Given the description of an element on the screen output the (x, y) to click on. 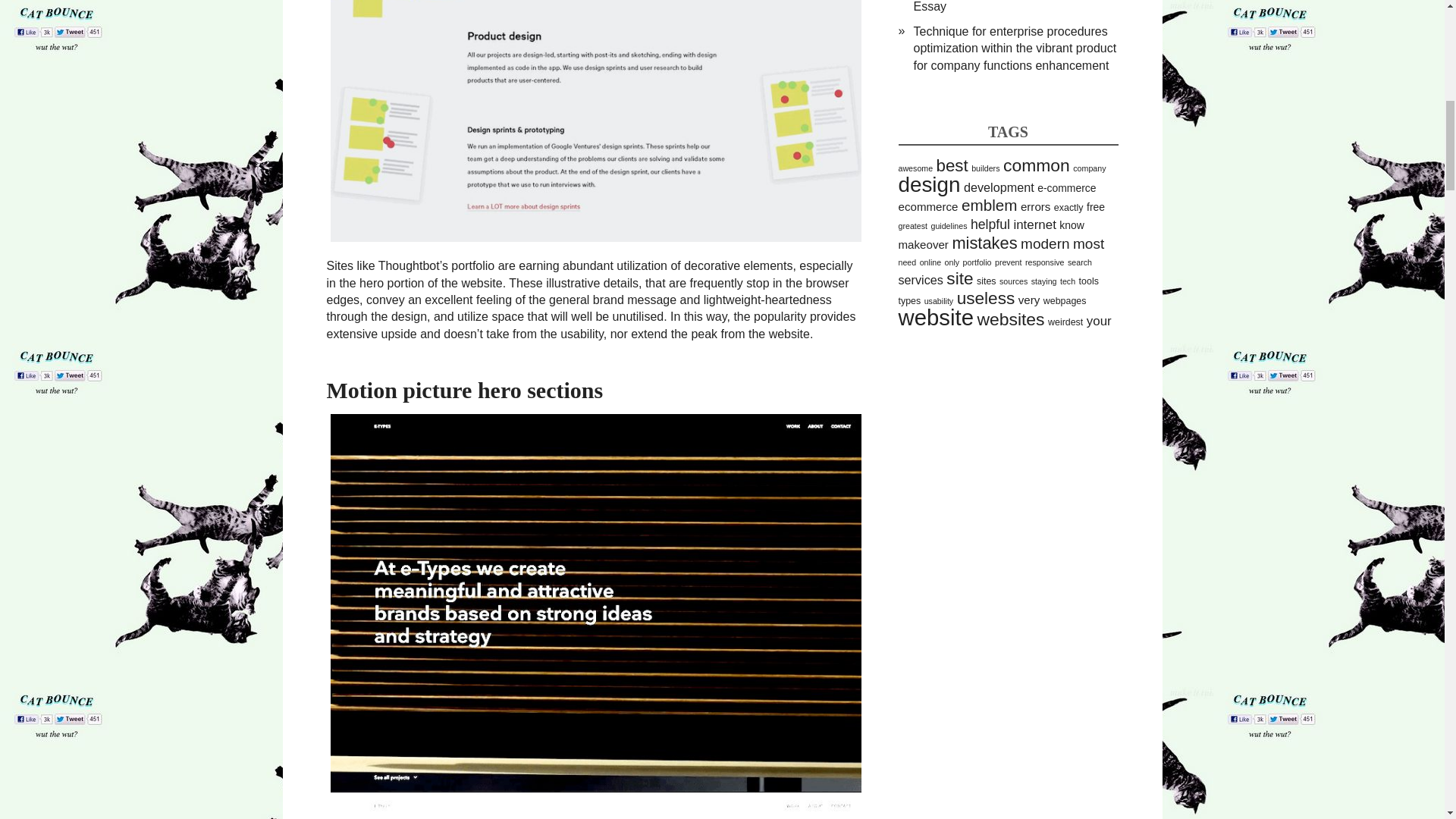
19 topics (1036, 165)
13 topics (988, 204)
2 topics (984, 167)
5 topics (928, 205)
42 topics (928, 184)
2 topics (915, 167)
5 topics (1035, 205)
6 topics (998, 187)
17 topics (952, 165)
4 topics (1066, 187)
2 topics (1089, 167)
